Given the description of an element on the screen output the (x, y) to click on. 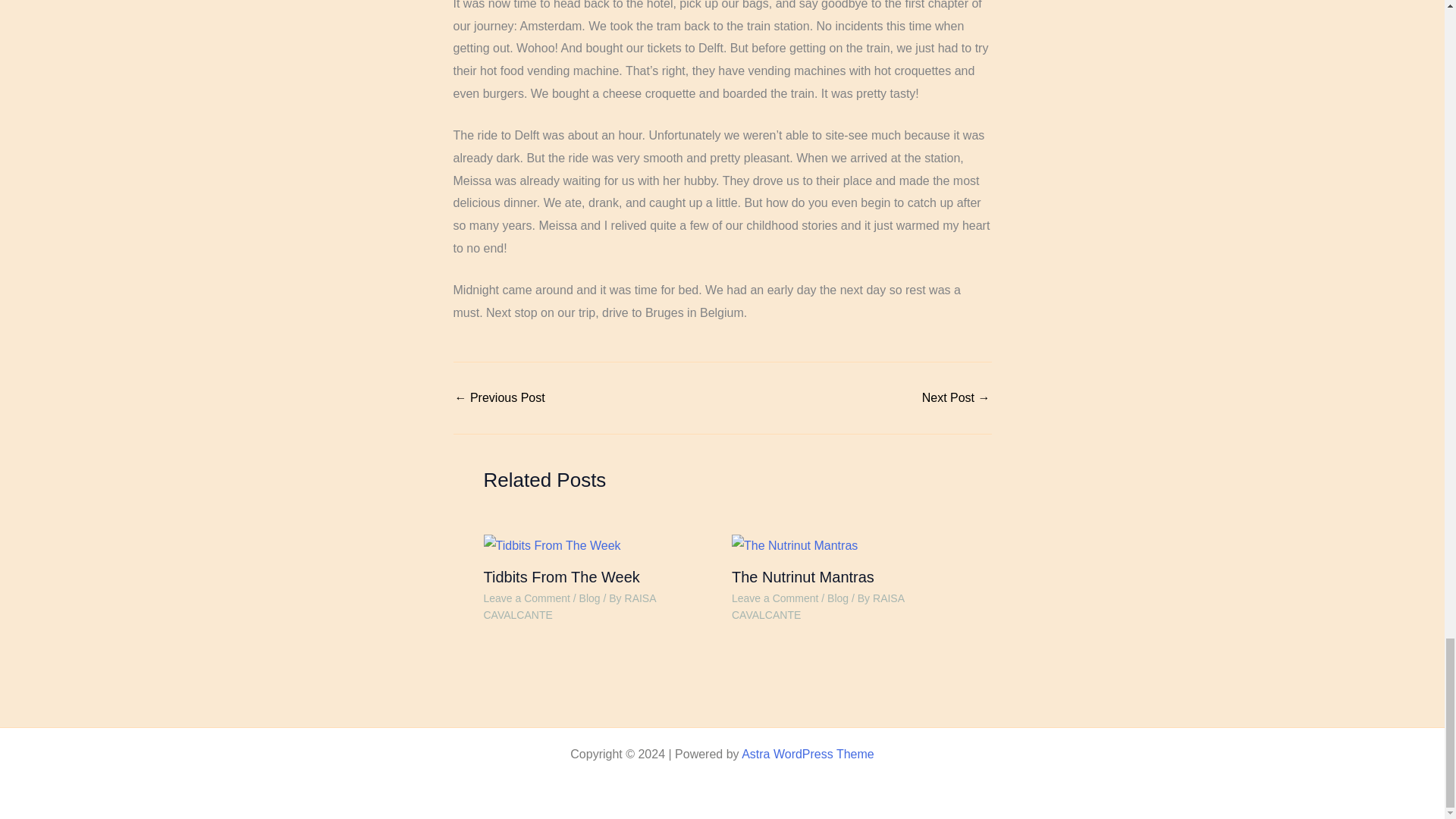
Day 3 - When the Cookie Monster Strikes in Amsterdam (499, 398)
View all posts by RAISA CAVALCANTE (569, 606)
Day 5 - Bruges (955, 398)
View all posts by RAISA CAVALCANTE (818, 606)
